Given the description of an element on the screen output the (x, y) to click on. 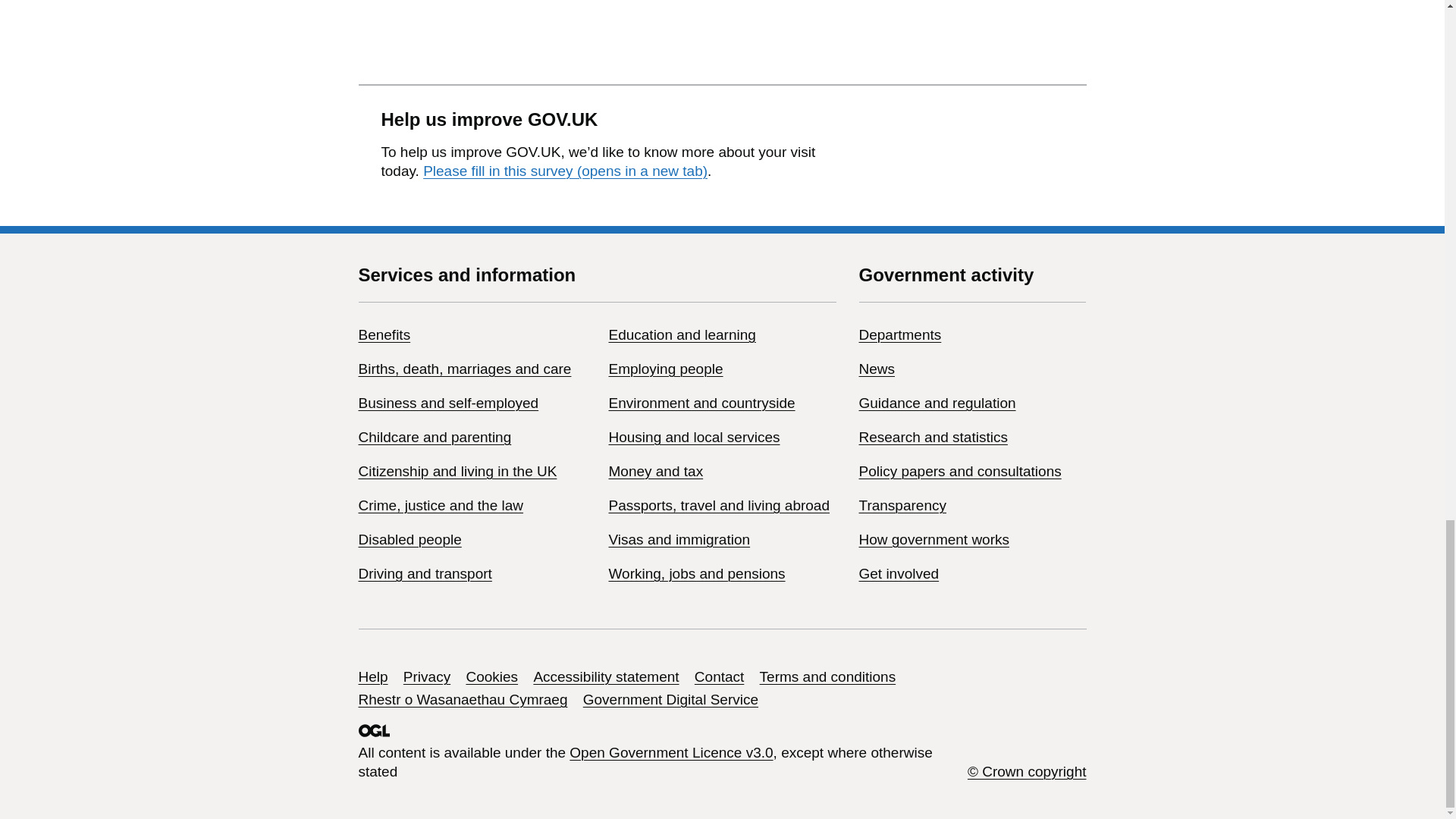
Driving and transport (425, 573)
Disabled people (409, 539)
Accessibility statement (605, 676)
Money and tax (655, 471)
News (877, 368)
Births, death, marriages and care (464, 368)
Visas and immigration (678, 539)
Departments (899, 334)
Transparency (901, 505)
Help (372, 676)
